Given the description of an element on the screen output the (x, y) to click on. 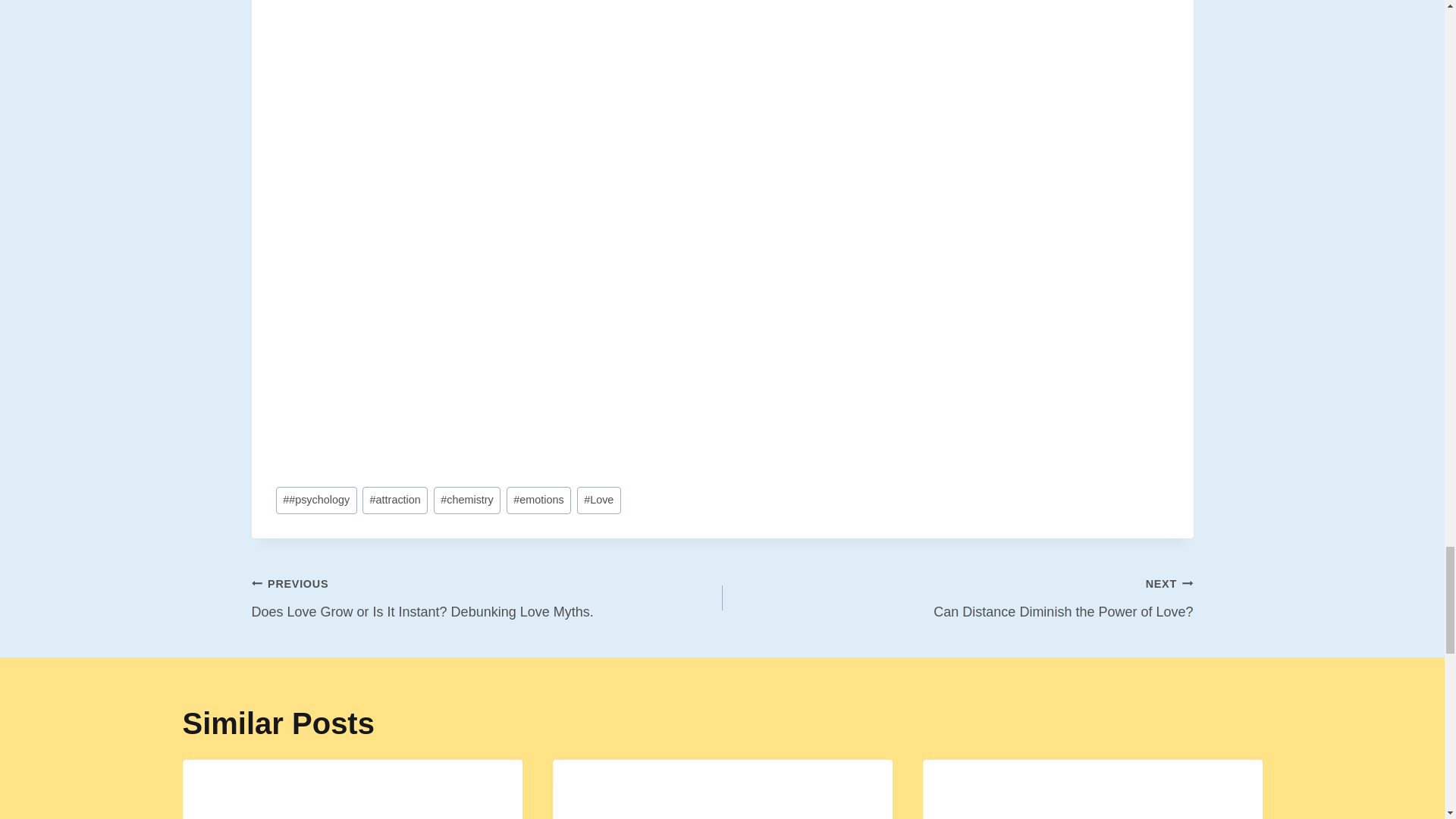
attraction (395, 500)
Love (598, 500)
emotions (539, 500)
chemistry (466, 500)
